Given the description of an element on the screen output the (x, y) to click on. 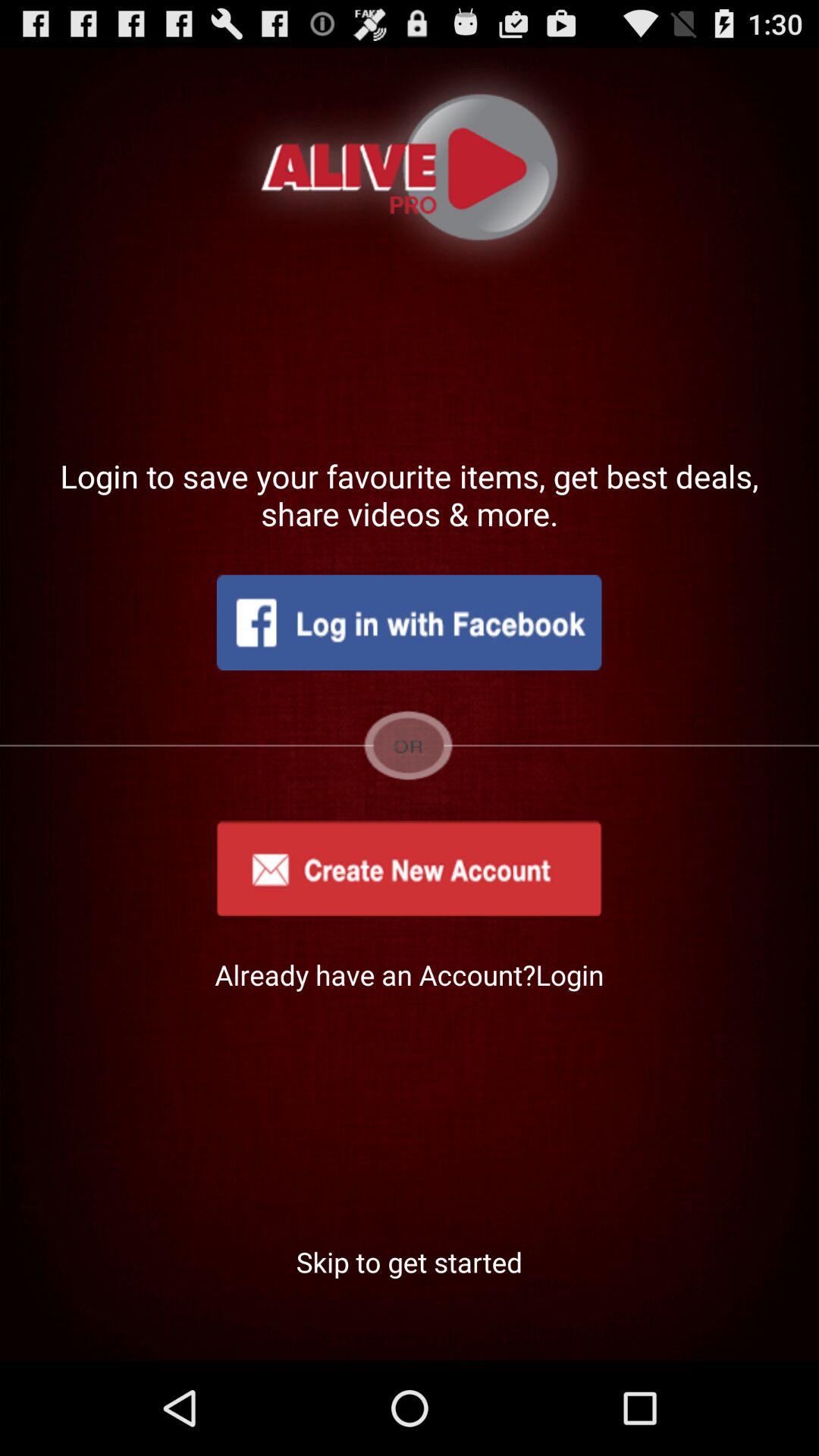
choose the item above the already have an item (408, 868)
